Given the description of an element on the screen output the (x, y) to click on. 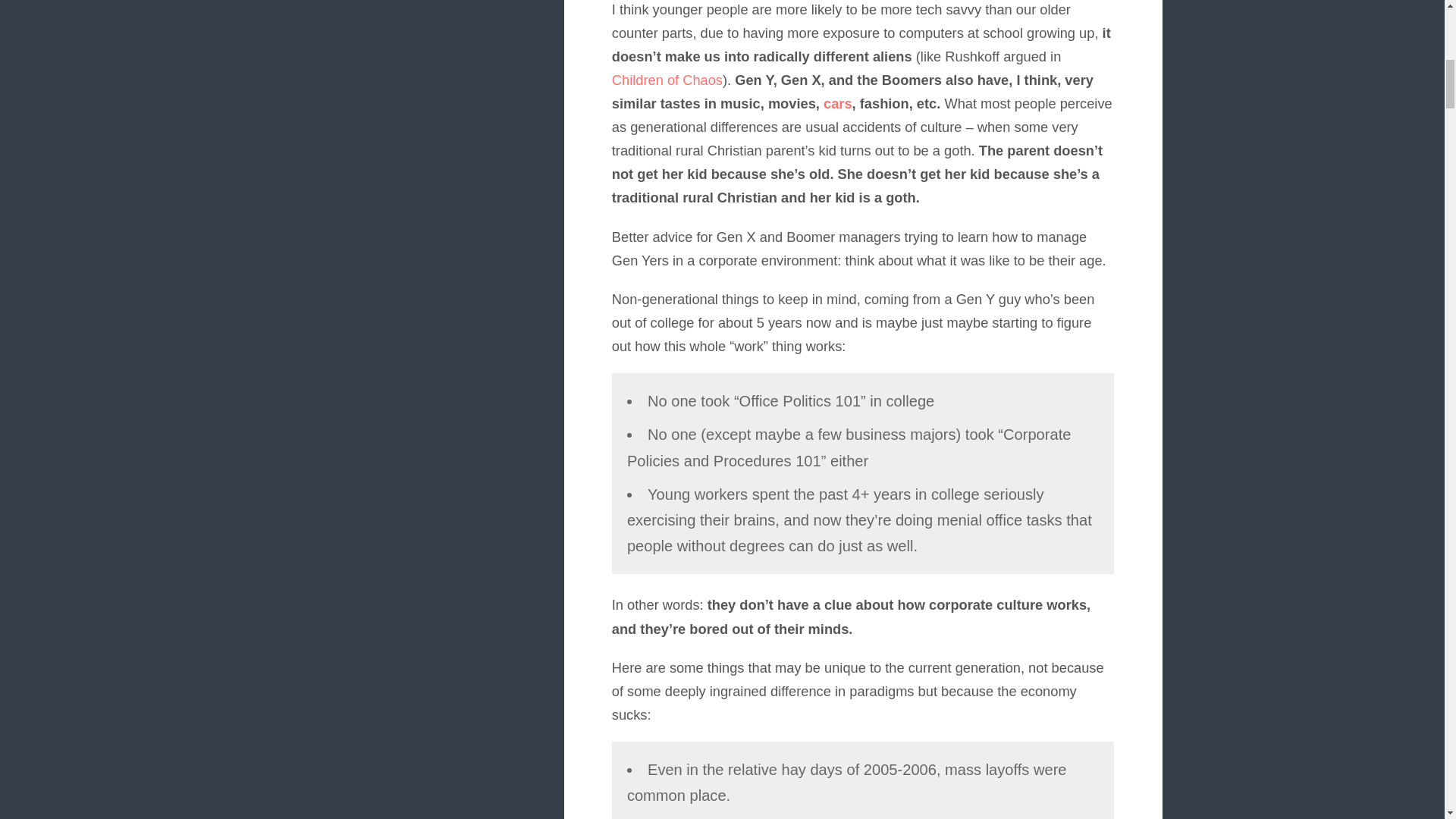
Children of Chaos (666, 79)
cars (837, 103)
